Given the description of an element on the screen output the (x, y) to click on. 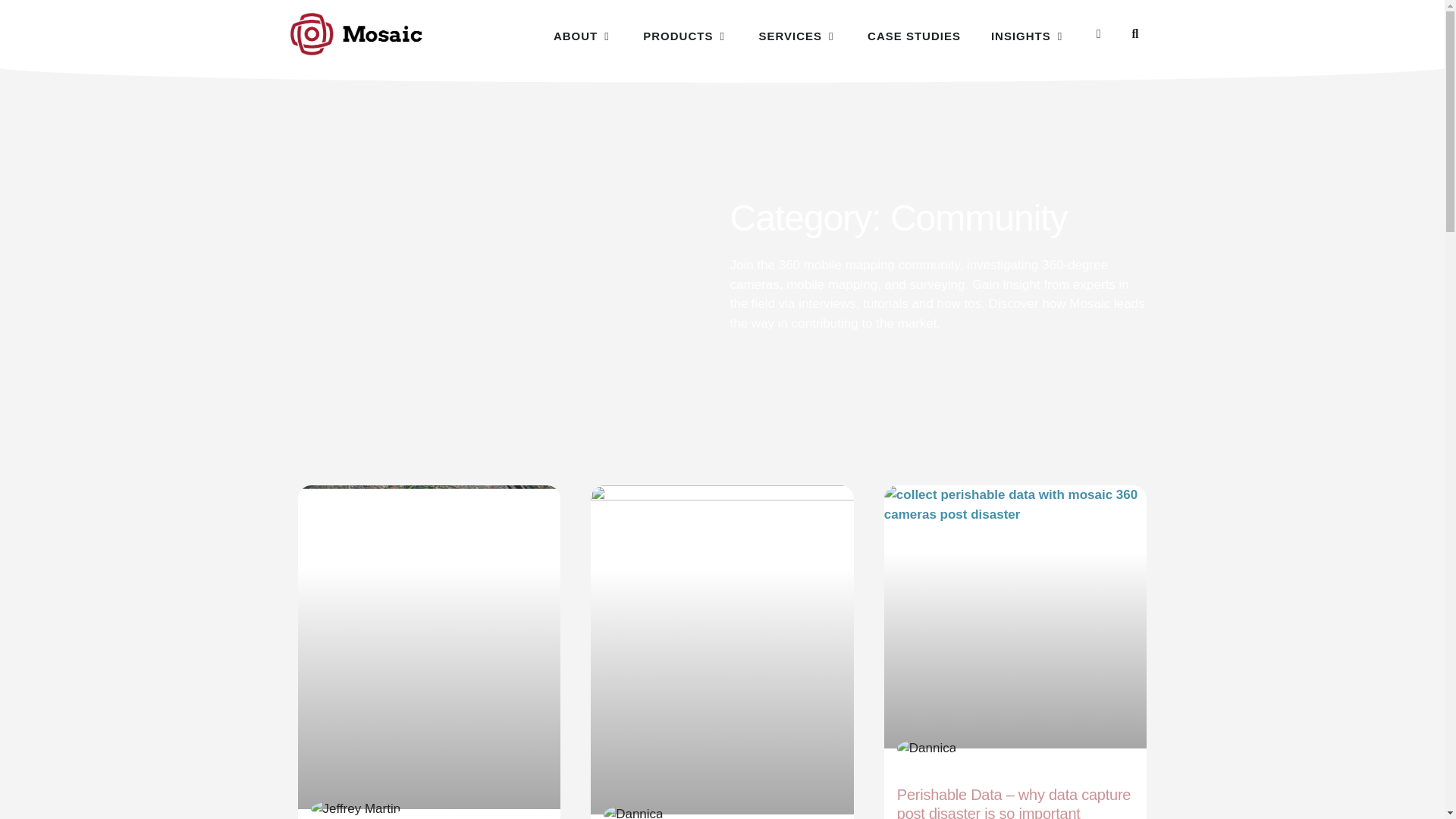
ABOUT (574, 36)
INSIGHTS (1021, 36)
CASE STUDIES (913, 36)
PRODUCTS (678, 36)
